Given the description of an element on the screen output the (x, y) to click on. 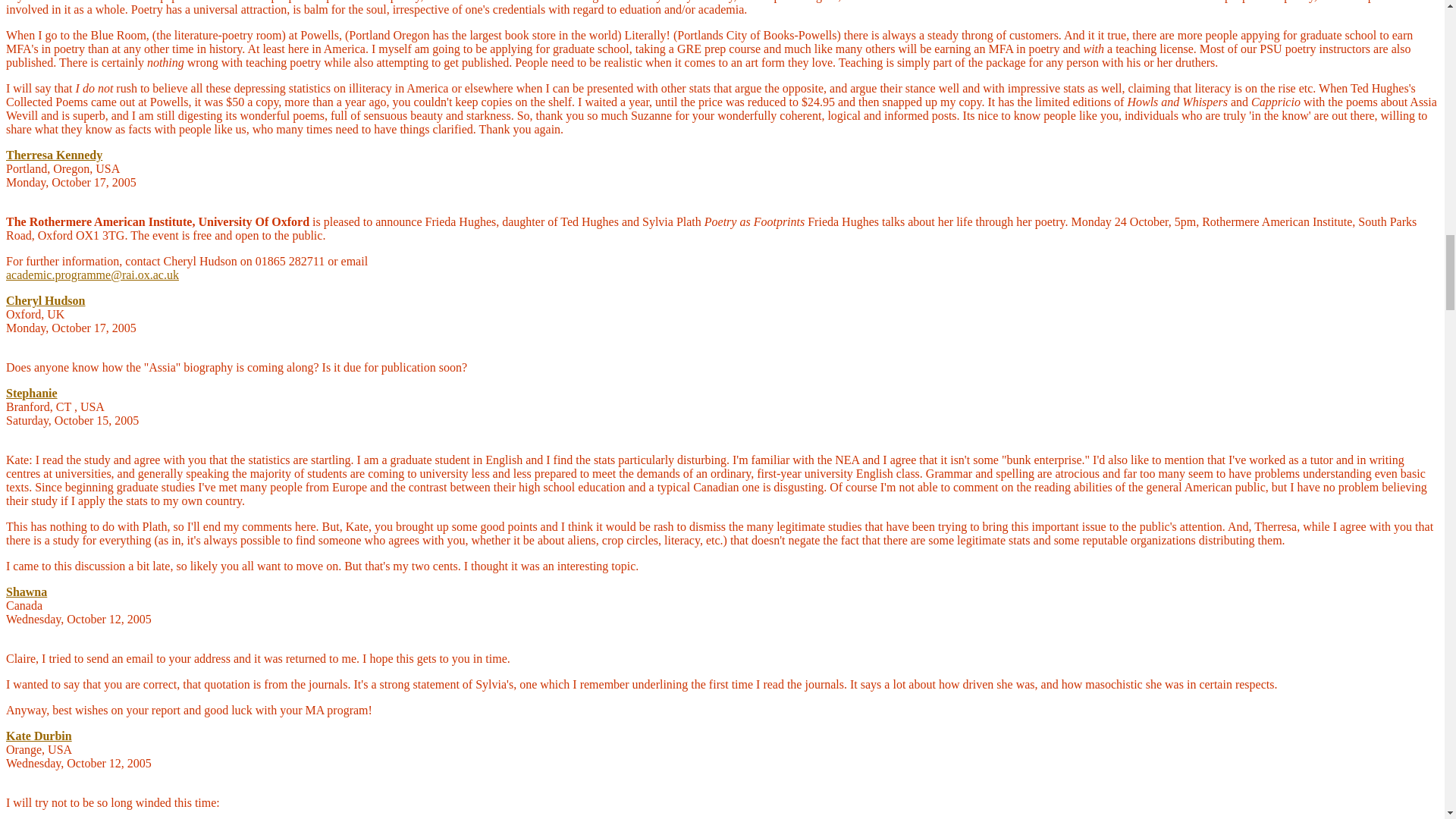
Shawna (25, 591)
Kate Durbin (38, 735)
Stephanie (31, 392)
Cheryl Hudson (44, 300)
Therresa Kennedy (53, 154)
